Given the description of an element on the screen output the (x, y) to click on. 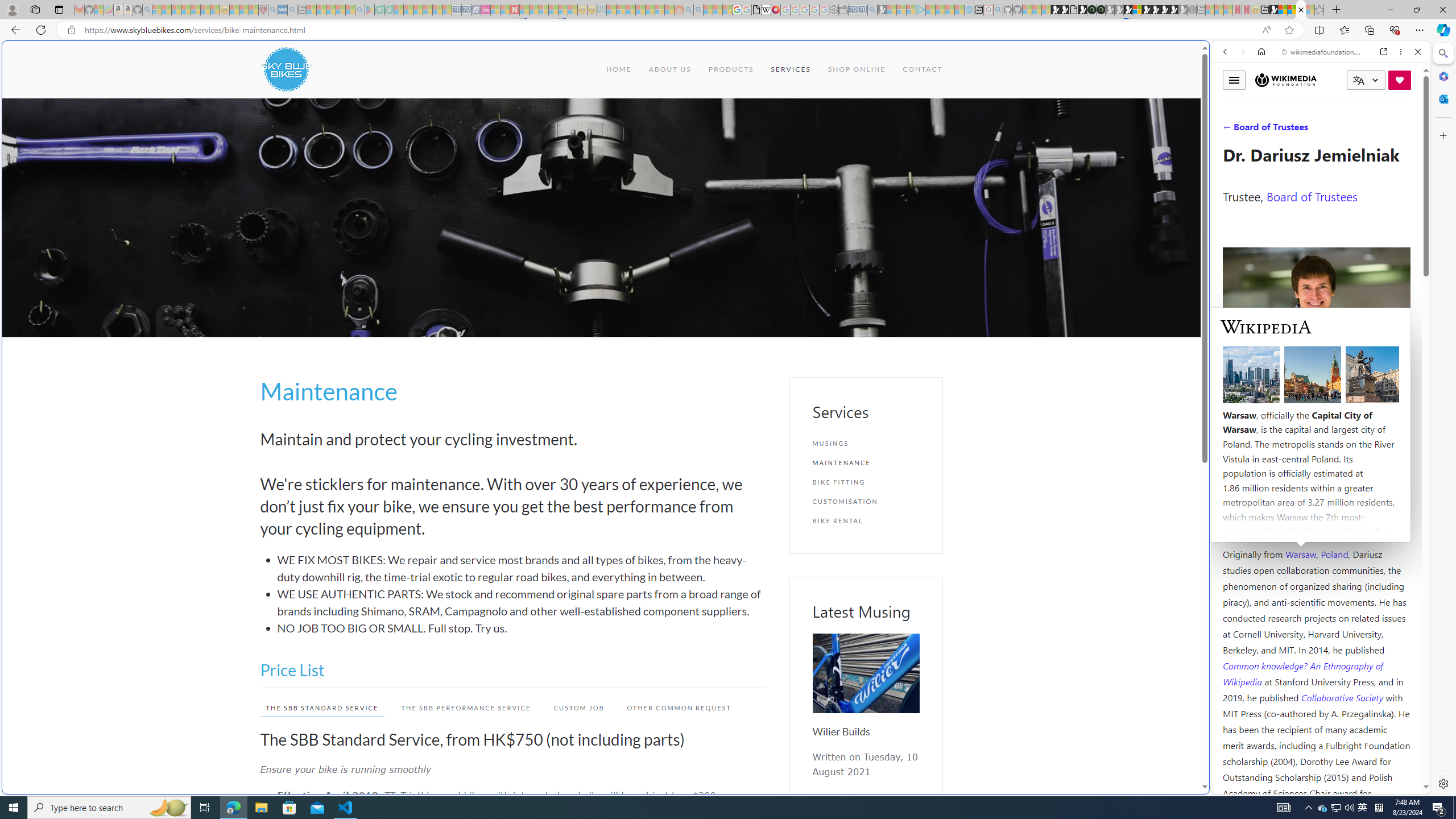
This site scope (1259, 102)
Search or enter web address (922, 108)
CUSTOMISATION (865, 501)
OTHER COMMON REQUEST (673, 707)
Search the web (1326, 78)
github - Search - Sleeping (997, 9)
BIKE FITTING (865, 481)
OTHER COMMON REQUEST (678, 707)
